Given the description of an element on the screen output the (x, y) to click on. 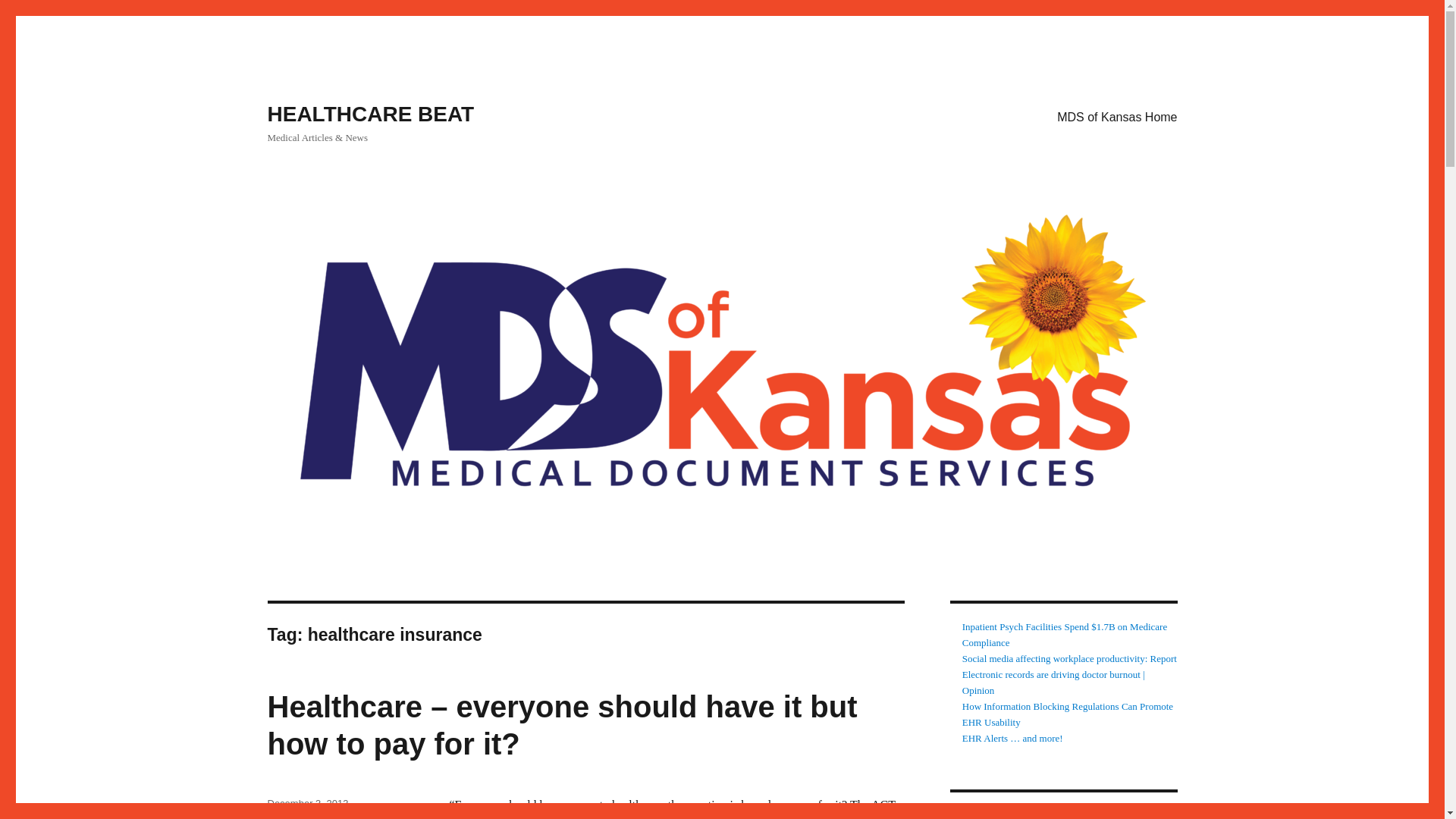
HEALTHCARE BEAT (370, 114)
December 3, 2013 (306, 803)
MDS of Kansas Home (1117, 116)
ACMSS (978, 814)
Social media affecting workplace productivity: Report (1069, 658)
